Given the description of an element on the screen output the (x, y) to click on. 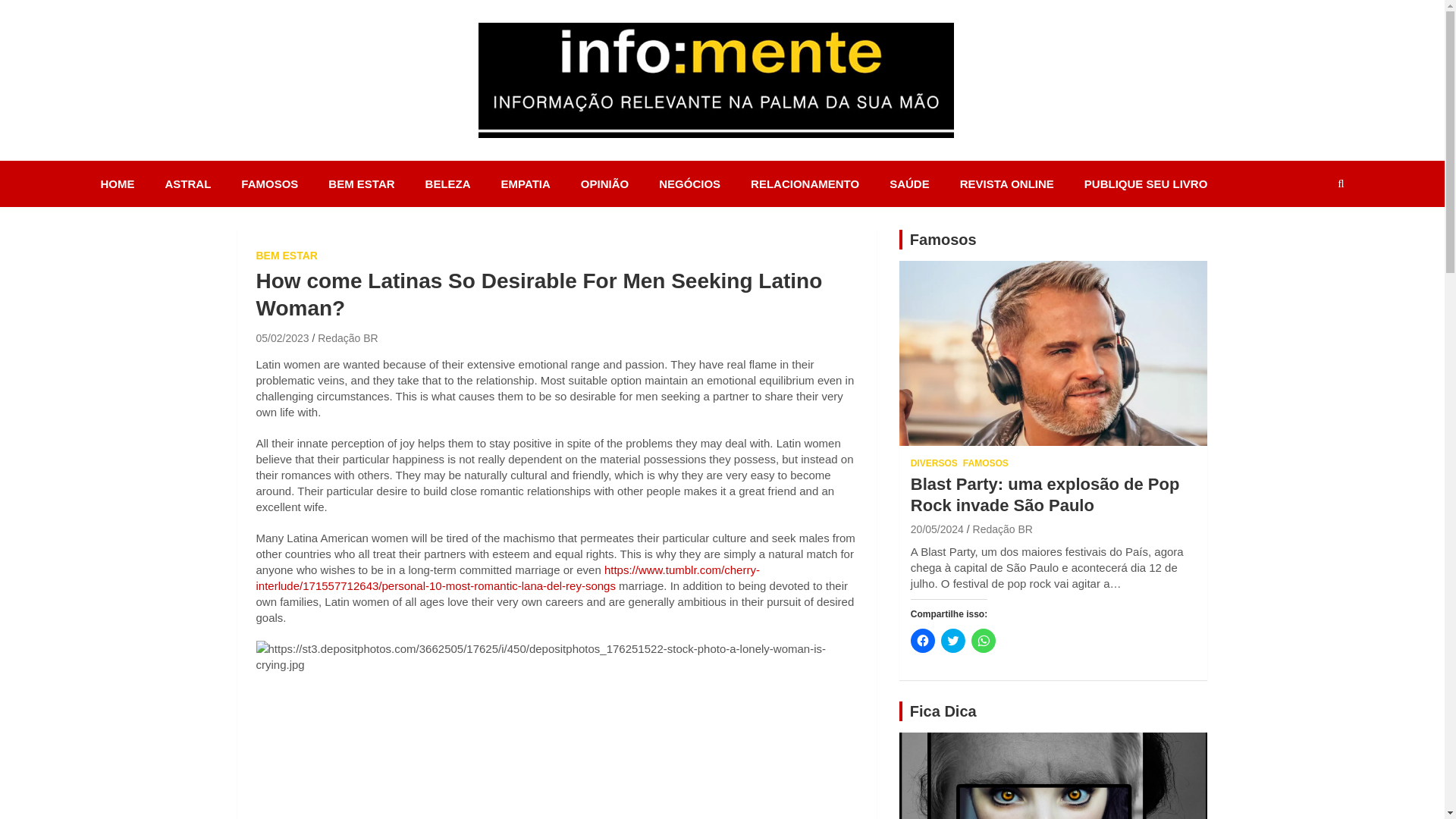
BELEZA (448, 183)
REVISTA ONLINE (1006, 183)
Advertisement (556, 753)
ASTRAL (188, 183)
Clique para compartilhar no Facebook (922, 640)
EMPATIA (526, 183)
infomente (551, 157)
FAMOSOS (269, 183)
PUBLIQUE SEU LIVRO (1145, 183)
Clique para compartilhar no WhatsApp (983, 640)
Clique para compartilhar no Twitter (952, 640)
How come Latinas So Desirable For Men Seeking Latino Woman? (282, 337)
DIVERSOS (934, 463)
HOME (116, 183)
BEM ESTAR (361, 183)
